Given the description of an element on the screen output the (x, y) to click on. 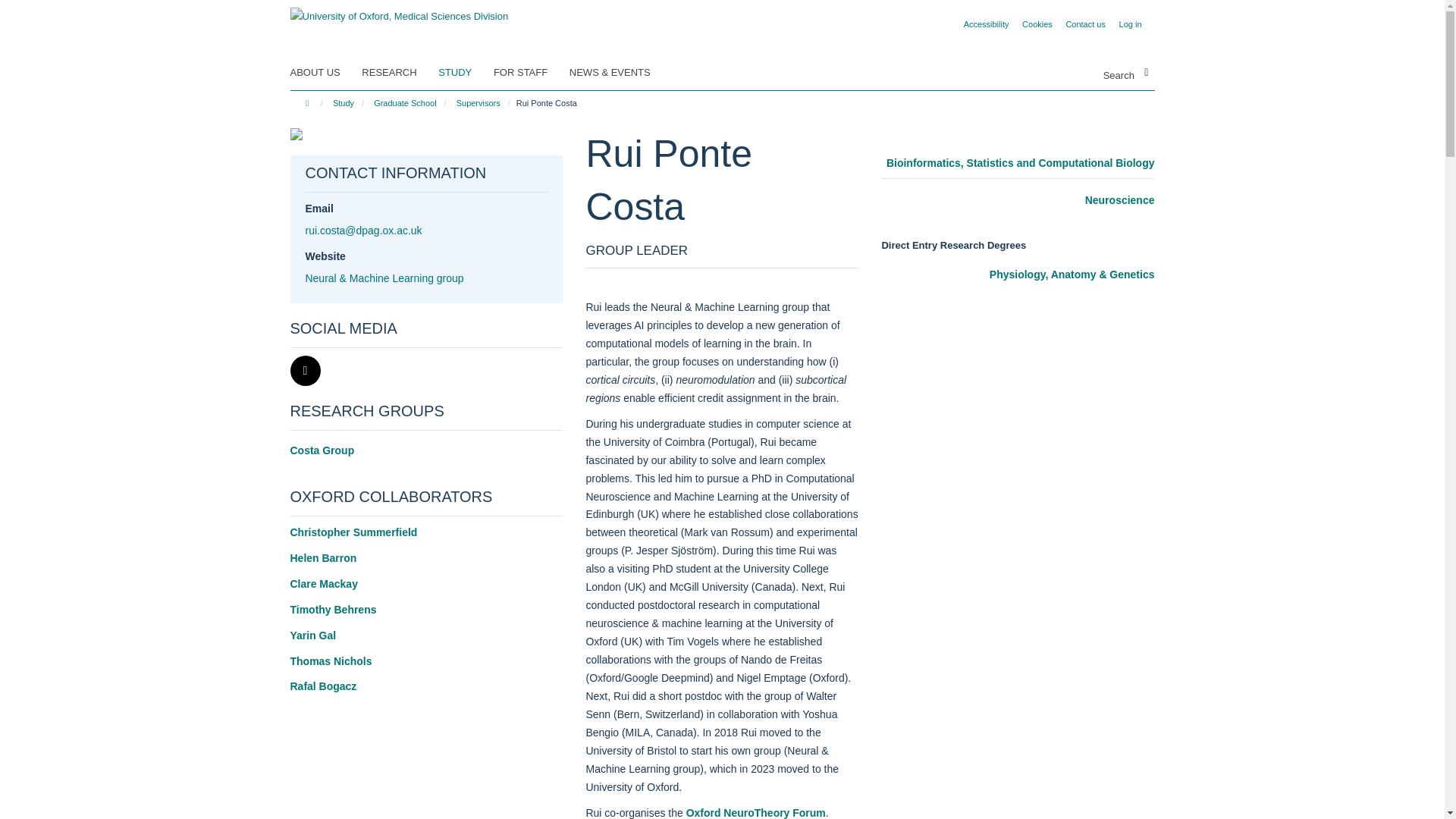
ABOUT US (323, 72)
Costa Group (425, 451)
University of Oxford, Medical Sciences Division (398, 11)
RESEARCH (398, 72)
Study (343, 103)
STUDY (464, 72)
Accessibility (986, 23)
Cookies (1037, 23)
FOR STAFF (529, 72)
Christopher Summerfield (352, 532)
